Given the description of an element on the screen output the (x, y) to click on. 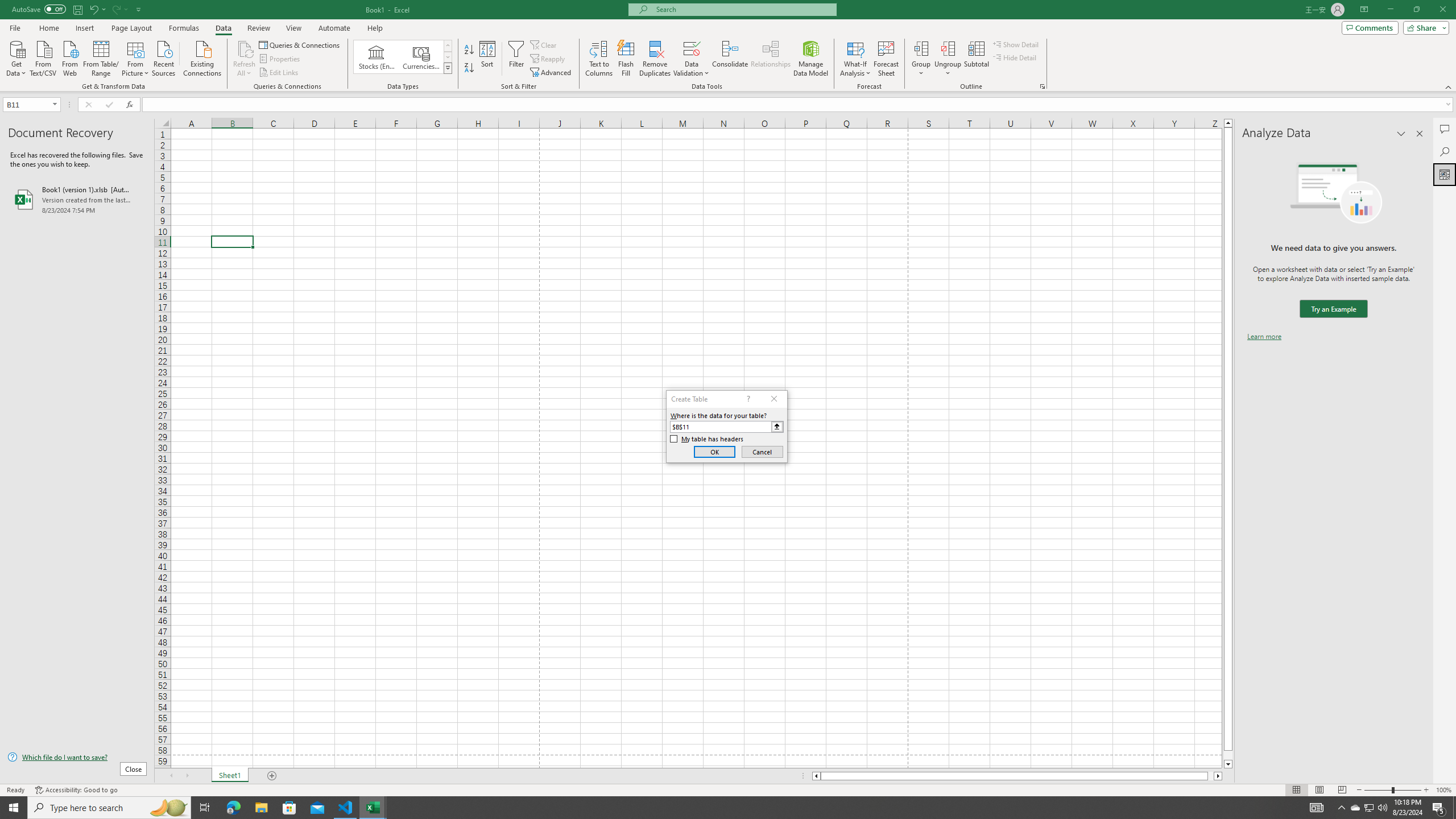
Learn more (1264, 336)
